Given the description of an element on the screen output the (x, y) to click on. 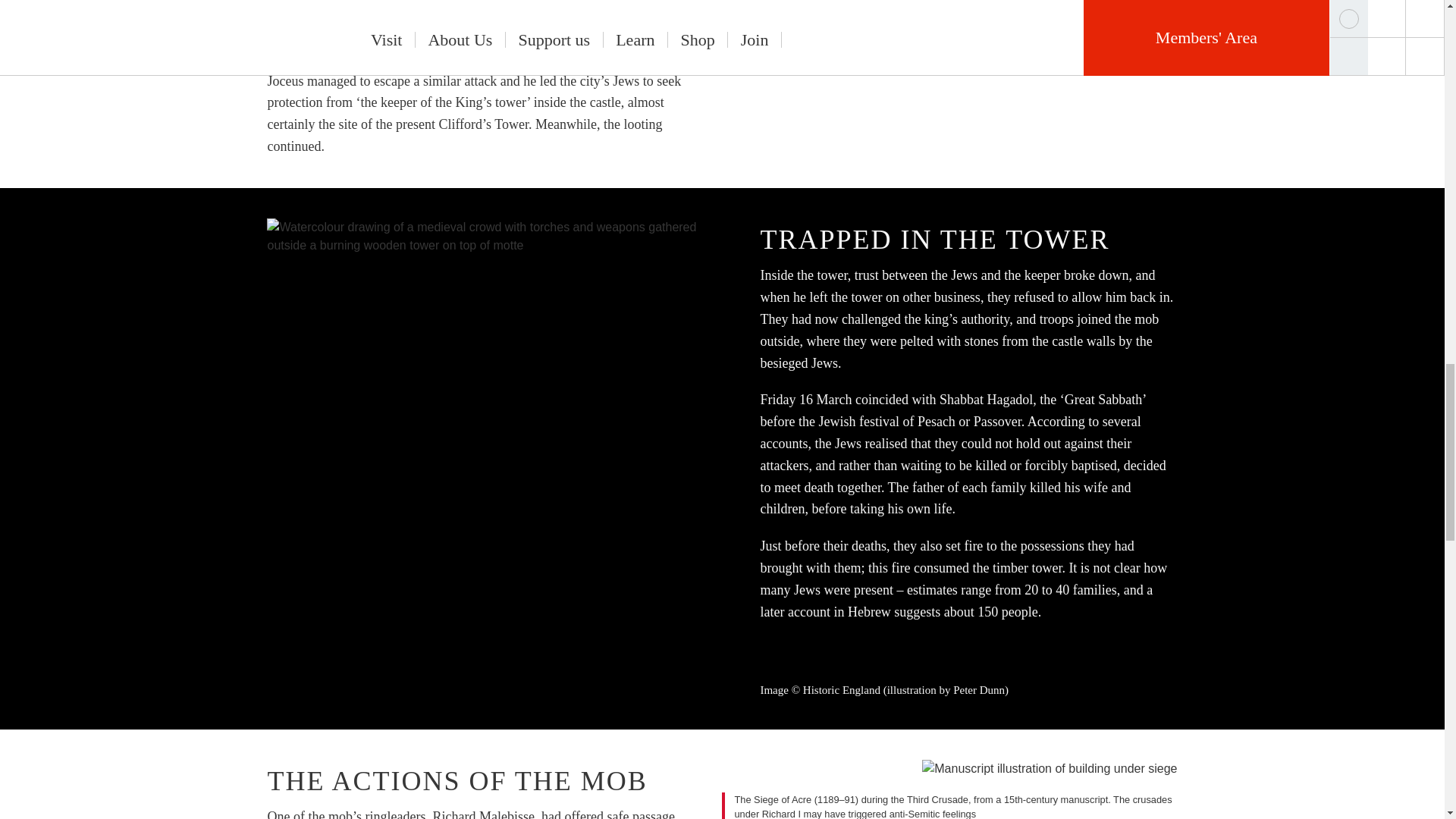
Manuscript illustration of building under siege (1048, 769)
